Given the description of an element on the screen output the (x, y) to click on. 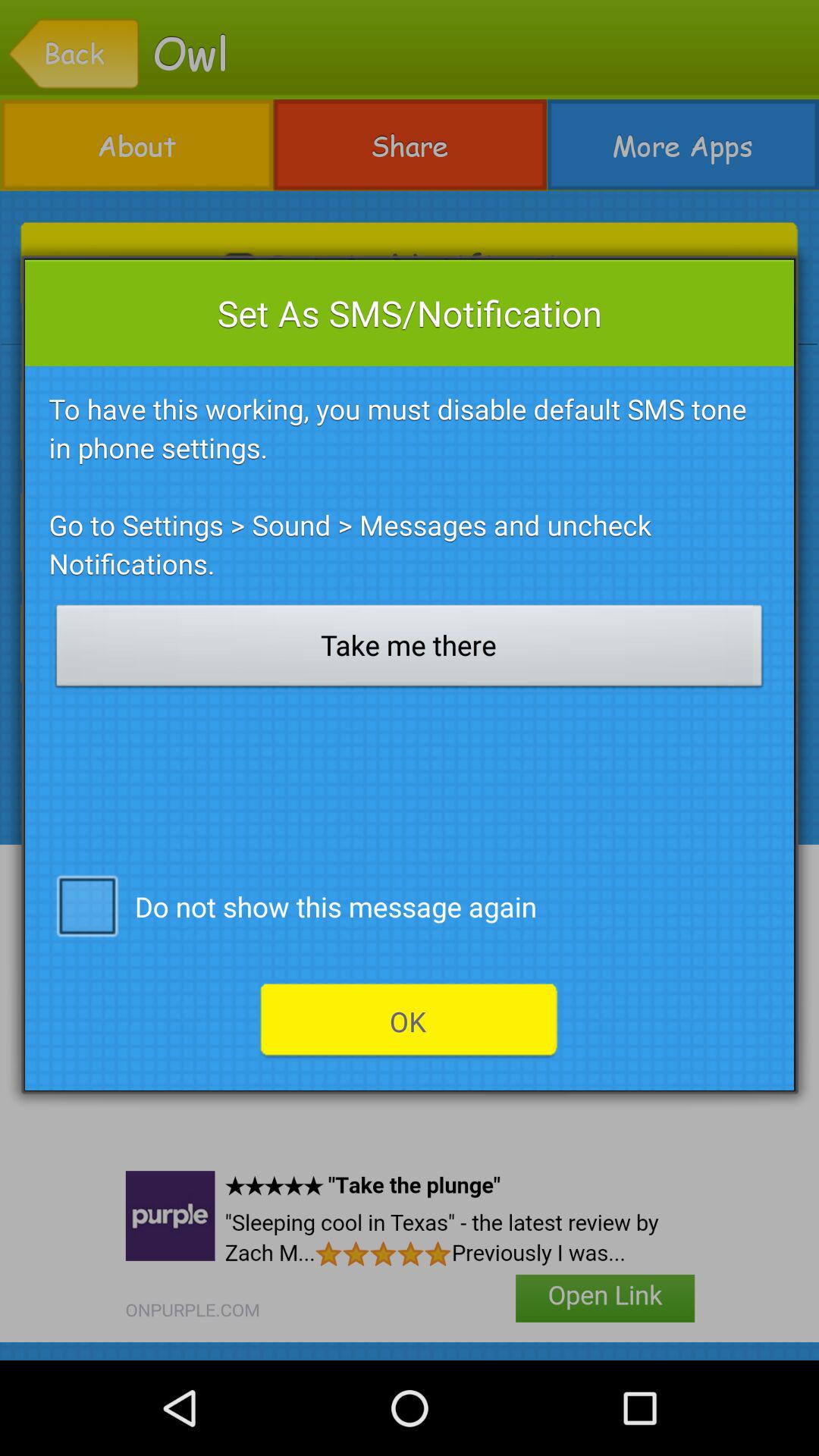
jump until ok item (408, 1021)
